Given the description of an element on the screen output the (x, y) to click on. 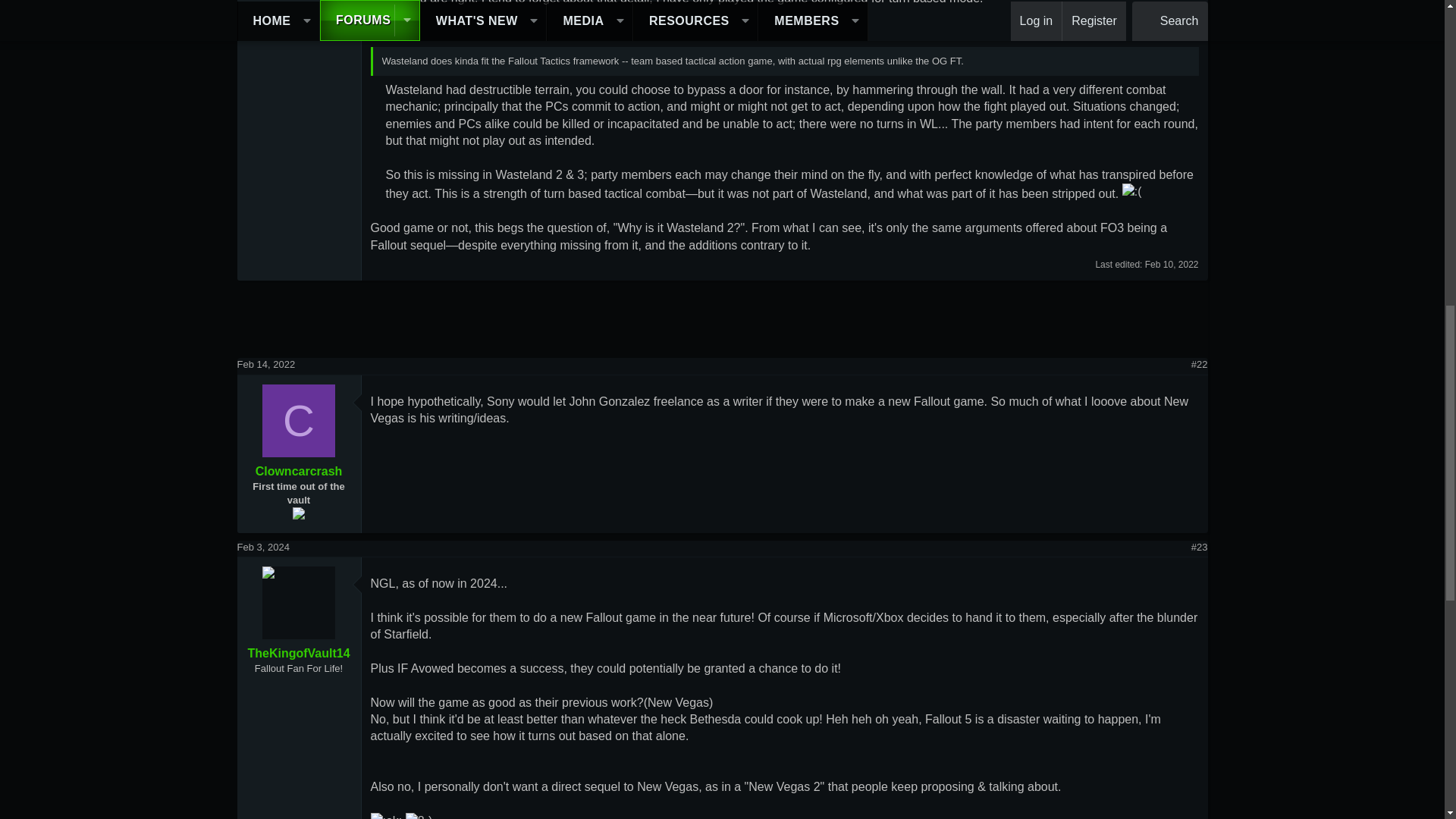
Thumbs up    :ok: (385, 816)
Feb 14, 2022 at 9:19 PM (265, 364)
Feb 10, 2022 at 8:14 PM (1171, 264)
Feb 3, 2024 at 5:21 PM (261, 546)
